Given the description of an element on the screen output the (x, y) to click on. 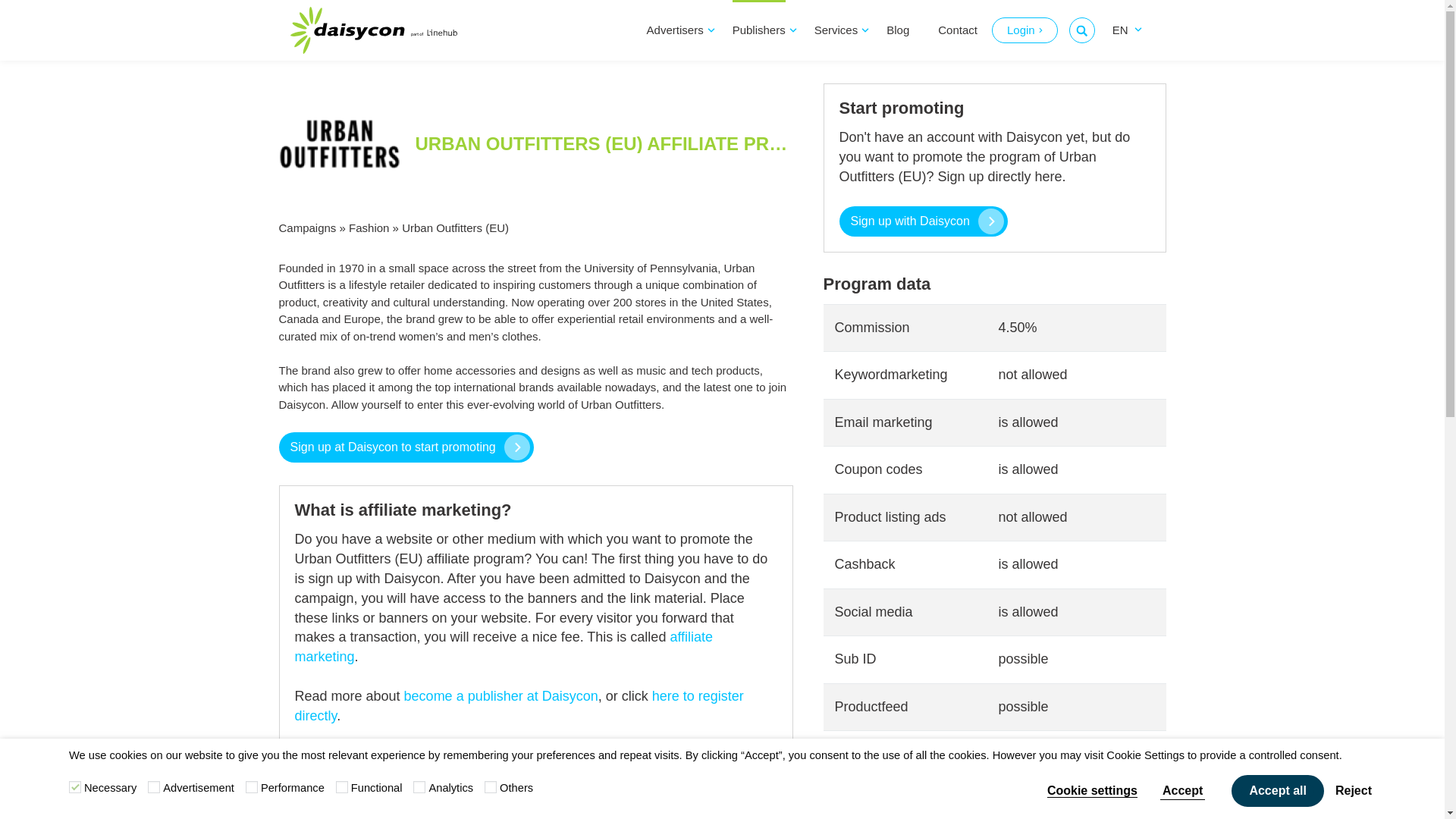
Fashion (368, 227)
Publishers (758, 30)
Advertisers (674, 30)
Search for (1081, 30)
Blog (897, 30)
EN (1121, 29)
become a publisher at Daisycon (501, 695)
Publisher at Daisycon (501, 695)
on (341, 787)
on (74, 787)
